Given the description of an element on the screen output the (x, y) to click on. 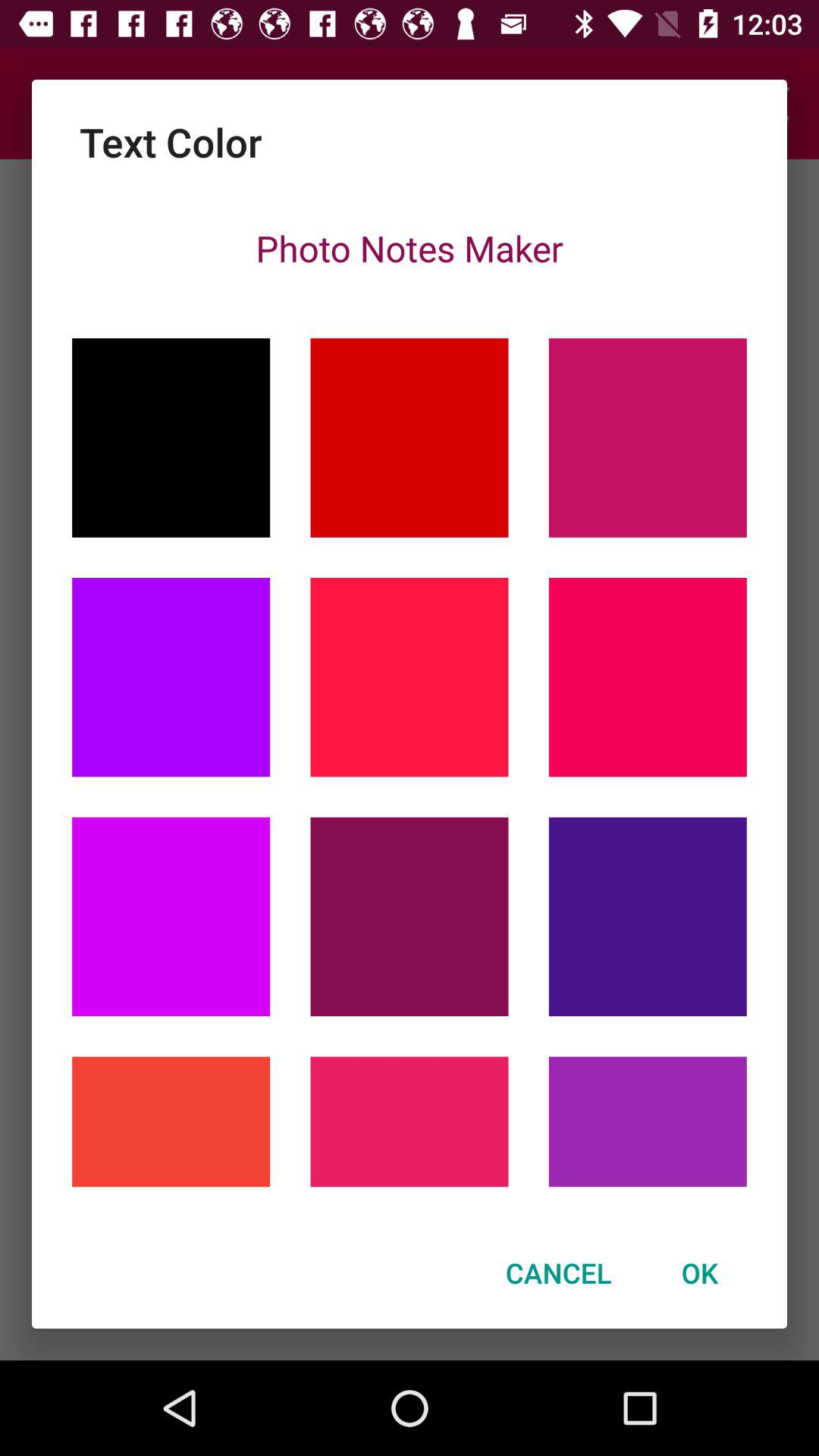
tap the icon to the left of ok icon (558, 1272)
